Given the description of an element on the screen output the (x, y) to click on. 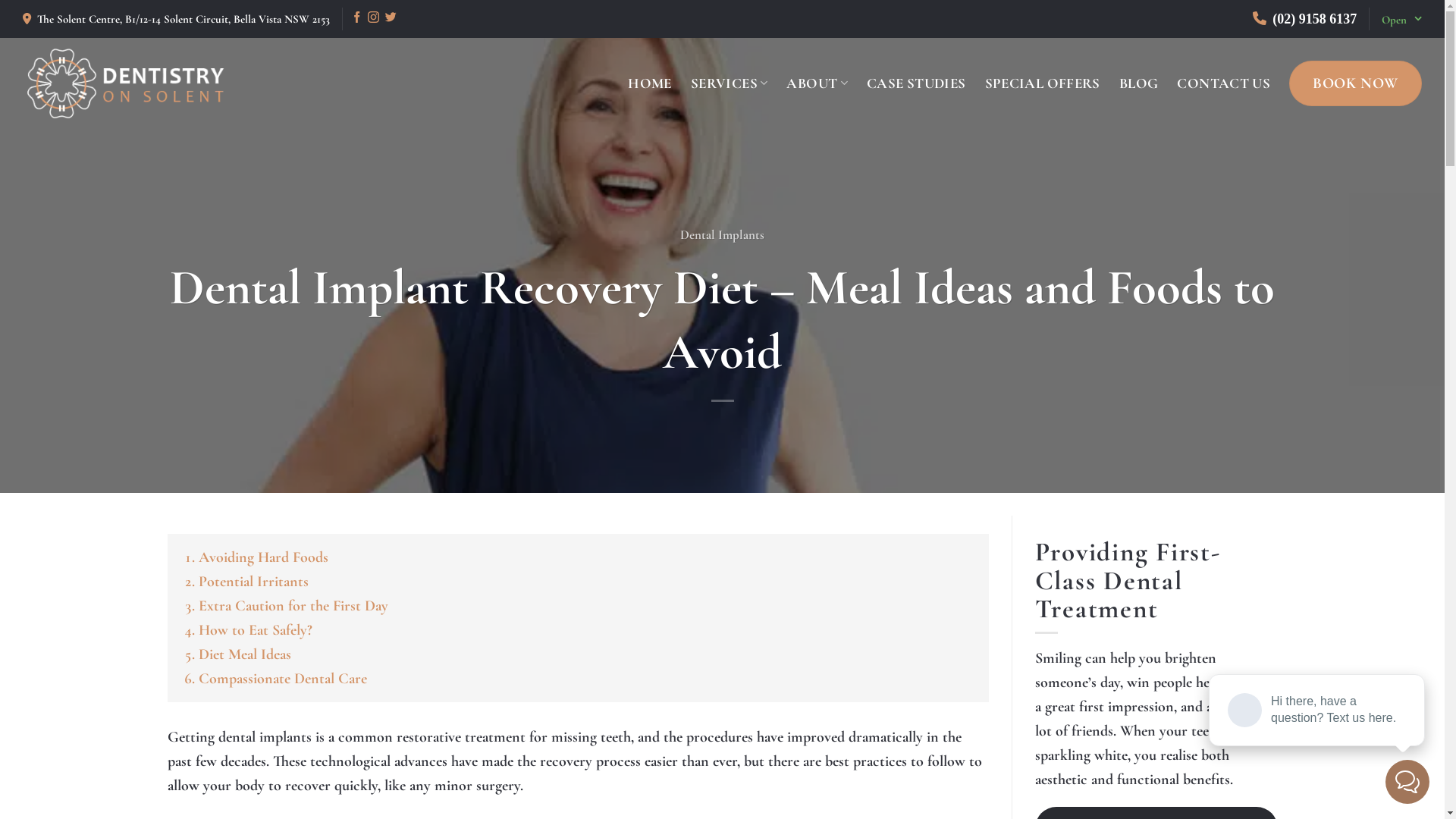
Avoiding Hard Foods Element type: text (263, 557)
Follow on Twitter Element type: hover (390, 18)
SPECIAL OFFERS Element type: text (1042, 83)
Diet Meal Ideas Element type: text (244, 654)
Dentistry On Solent Element type: hover (124, 83)
Potential Irritants Element type: text (253, 581)
(02) 9158 6137 Element type: text (1313, 18)
Compassionate Dental Care Element type: text (282, 678)
Extra Caution for the First Day Element type: text (293, 605)
How to Eat Safely? Element type: text (255, 630)
Dental Implants Element type: text (722, 234)
CASE STUDIES Element type: text (916, 83)
HOME Element type: text (649, 83)
BOOK NOW Element type: text (1355, 83)
ABOUT Element type: text (816, 82)
CONTACT US Element type: text (1223, 83)
BLOG Element type: text (1138, 83)
Follow on Facebook Element type: hover (356, 18)
Follow on Instagram Element type: hover (373, 18)
SERVICES Element type: text (729, 82)
